Given the description of an element on the screen output the (x, y) to click on. 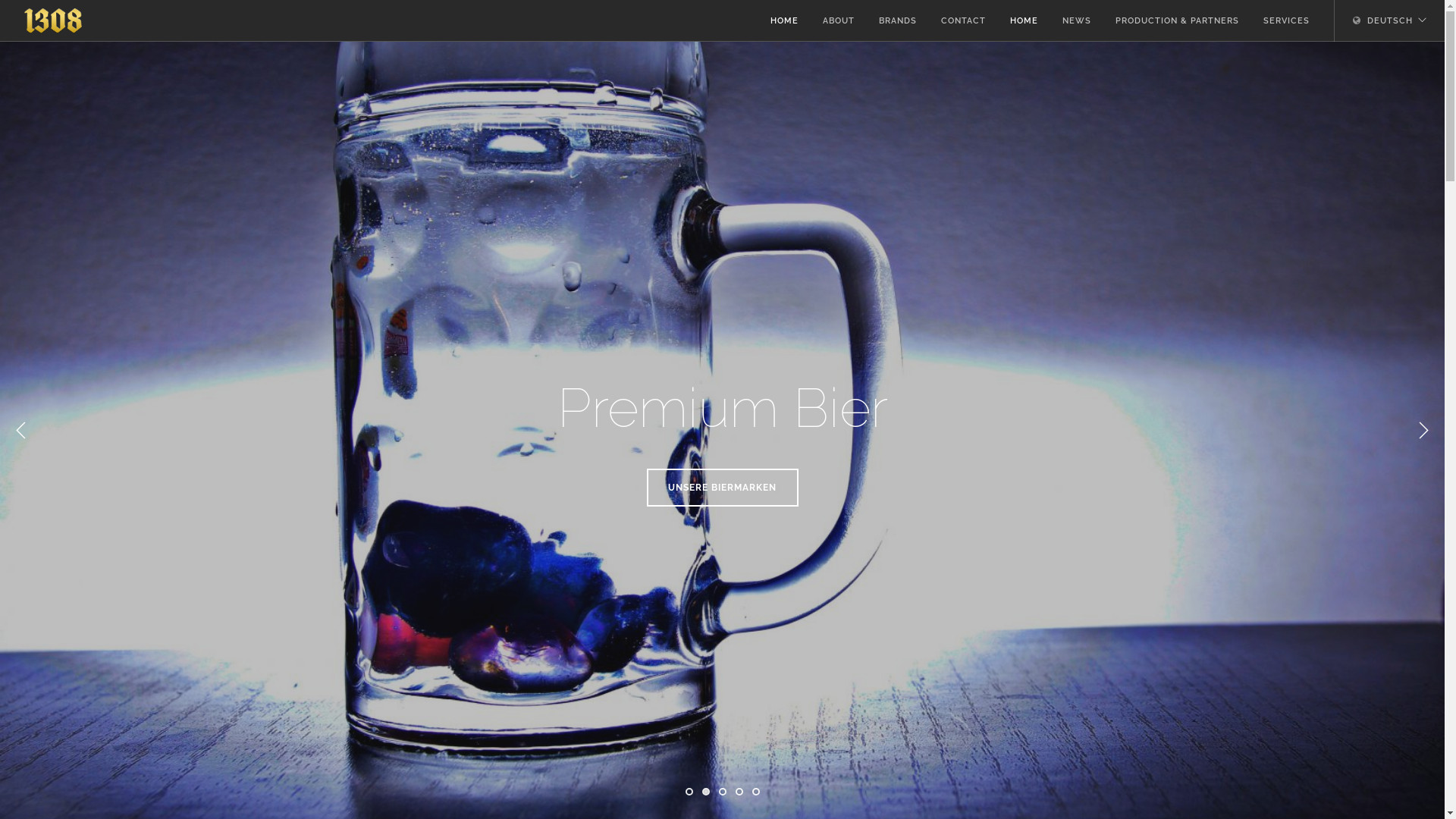
1 Element type: text (689, 791)
DEUTSCH Element type: text (1382, 21)
Next Element type: text (1423, 430)
HOME Element type: text (1024, 21)
CONTACT Element type: text (963, 21)
2 Element type: text (705, 791)
UNSERE BIERMARKEN Element type: text (721, 487)
BRANDS Element type: text (897, 21)
4 Element type: text (739, 791)
PRODUCTION & PARTNERS Element type: text (1177, 21)
5 Element type: text (755, 791)
1308 Brewing Technology Co., Ltd. Element type: hover (52, 20)
Previous Element type: text (21, 430)
ABOUT Element type: text (838, 21)
NEWS Element type: text (1076, 21)
SERVICES Element type: text (1286, 21)
3 Element type: text (722, 791)
HOME Element type: text (784, 21)
